Given the description of an element on the screen output the (x, y) to click on. 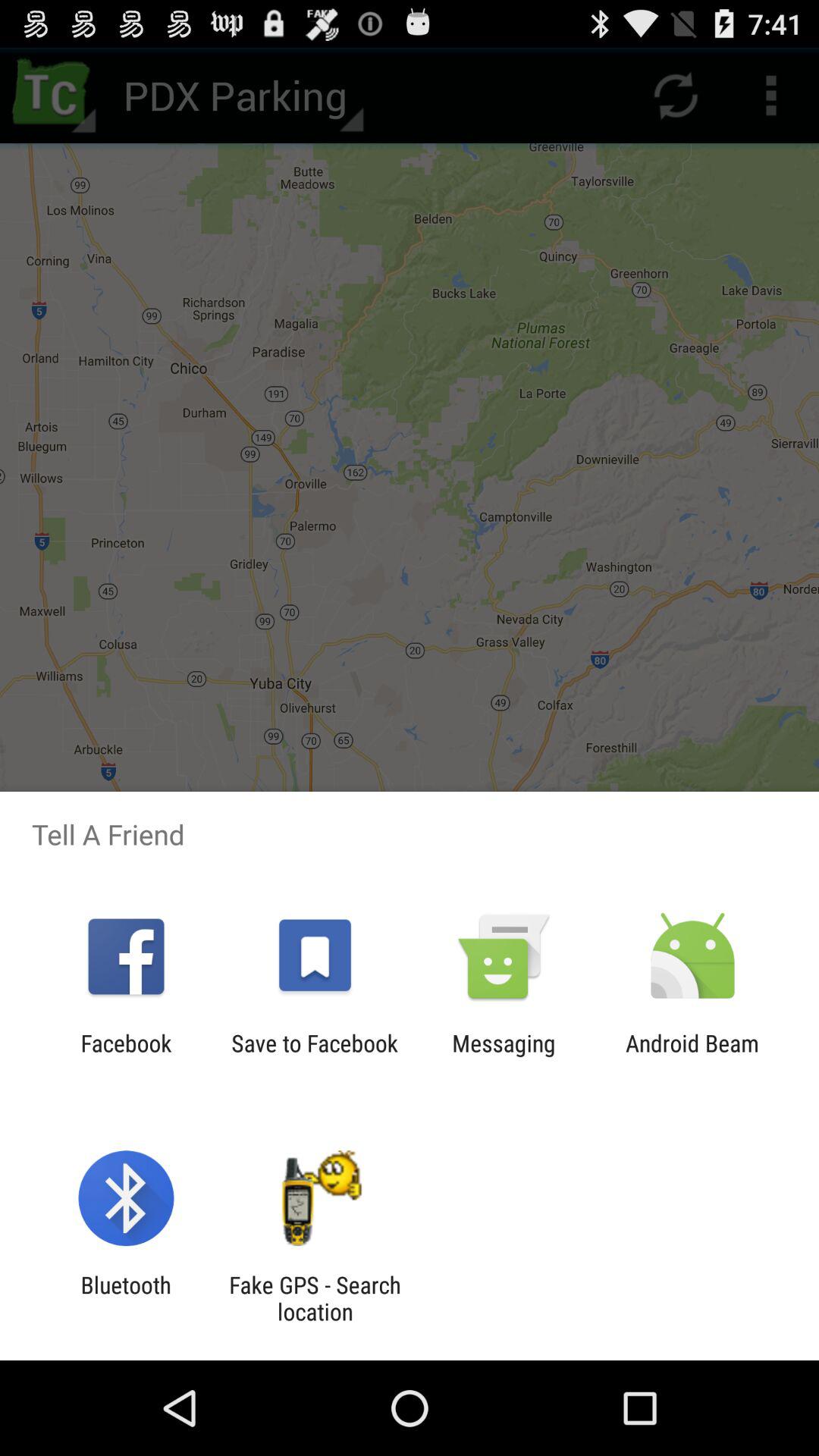
scroll until bluetooth icon (125, 1298)
